Given the description of an element on the screen output the (x, y) to click on. 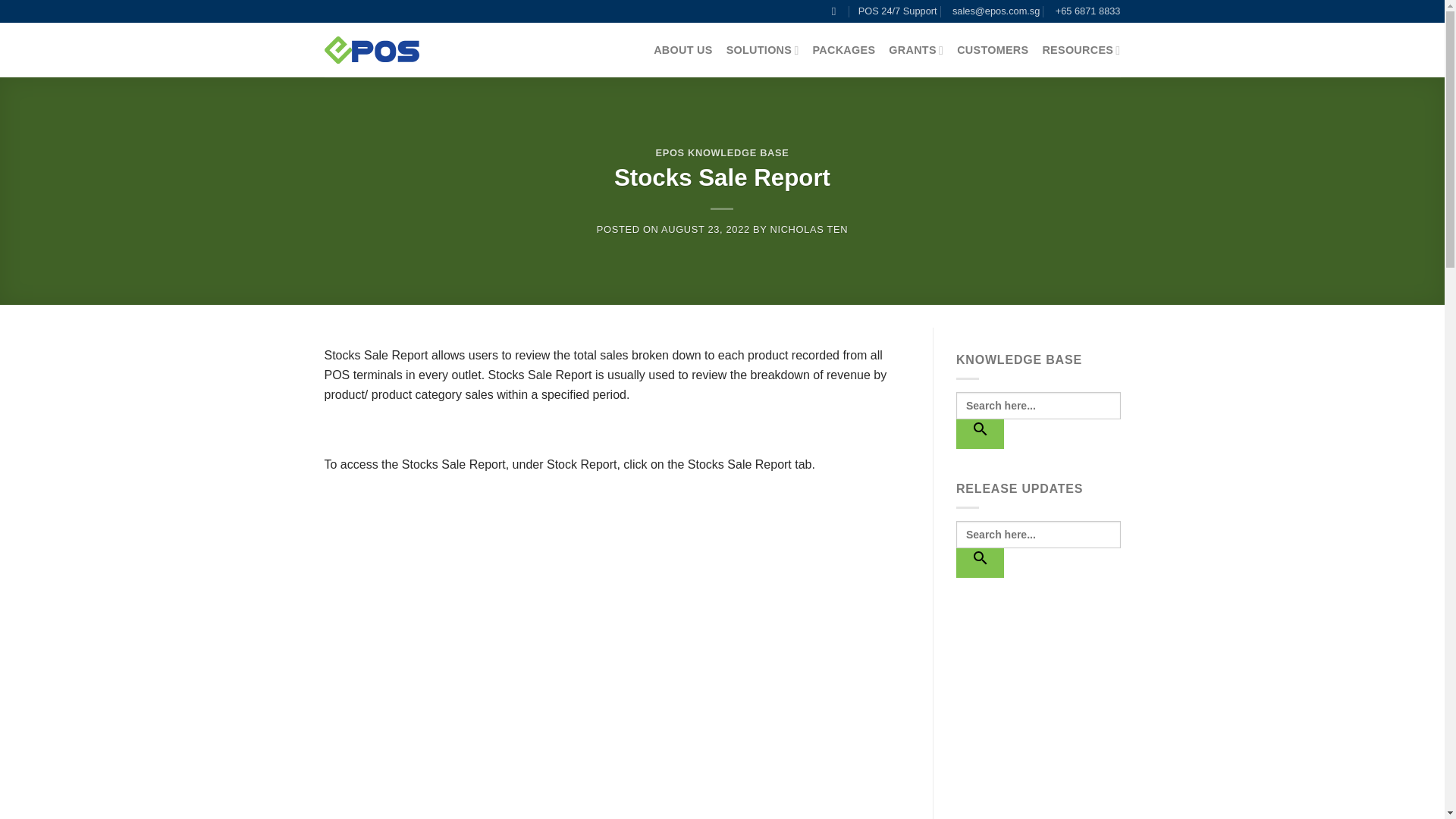
NICHOLAS TEN (808, 229)
PACKAGES (844, 49)
AUGUST 23, 2022 (705, 229)
RESOURCES (1080, 50)
EPOS KNOWLEDGE BASE (722, 152)
GRANTS (915, 50)
SOLUTIONS (762, 50)
CUSTOMERS (991, 49)
ABOUT US (682, 49)
